Given the description of an element on the screen output the (x, y) to click on. 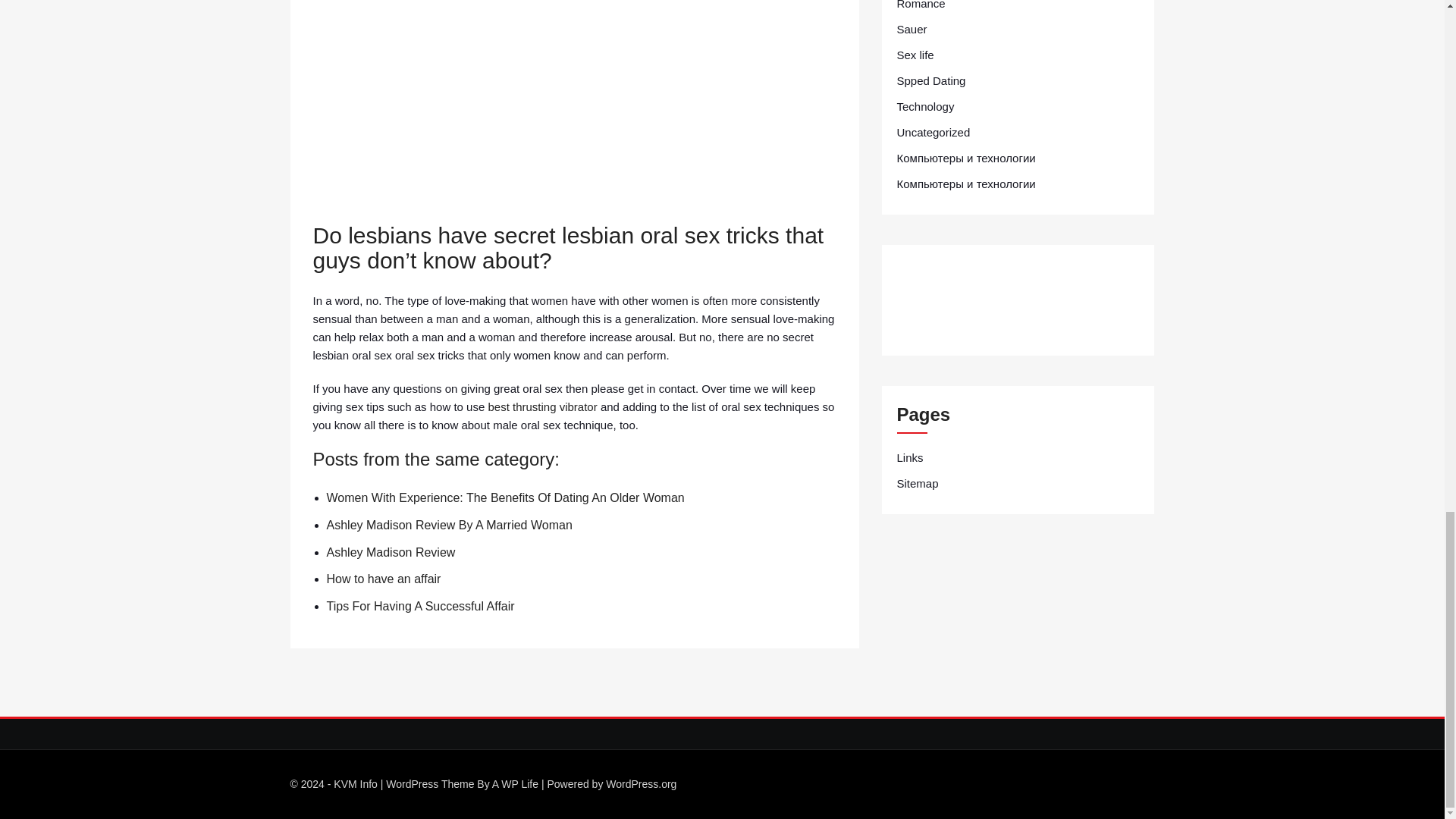
Ashley Madison Review By A Married Woman (449, 524)
Women With Experience: The Benefits Of Dating An Older Woman (505, 497)
Tips For Having A Successful Affair (419, 605)
best thrusting vibrator (541, 406)
Ashley Madison Review (390, 552)
How to have an affair (383, 578)
Tips For Having A Successful Affair (419, 605)
Ashley Madison Review (390, 552)
How to have an affair (383, 578)
Ashley Madison Review By A Married Woman (449, 524)
7 Sex Secrets About Men - What Men Want In Bed (574, 108)
Women With Experience: The Benefits Of Dating An Older Woman (505, 497)
